Given the description of an element on the screen output the (x, y) to click on. 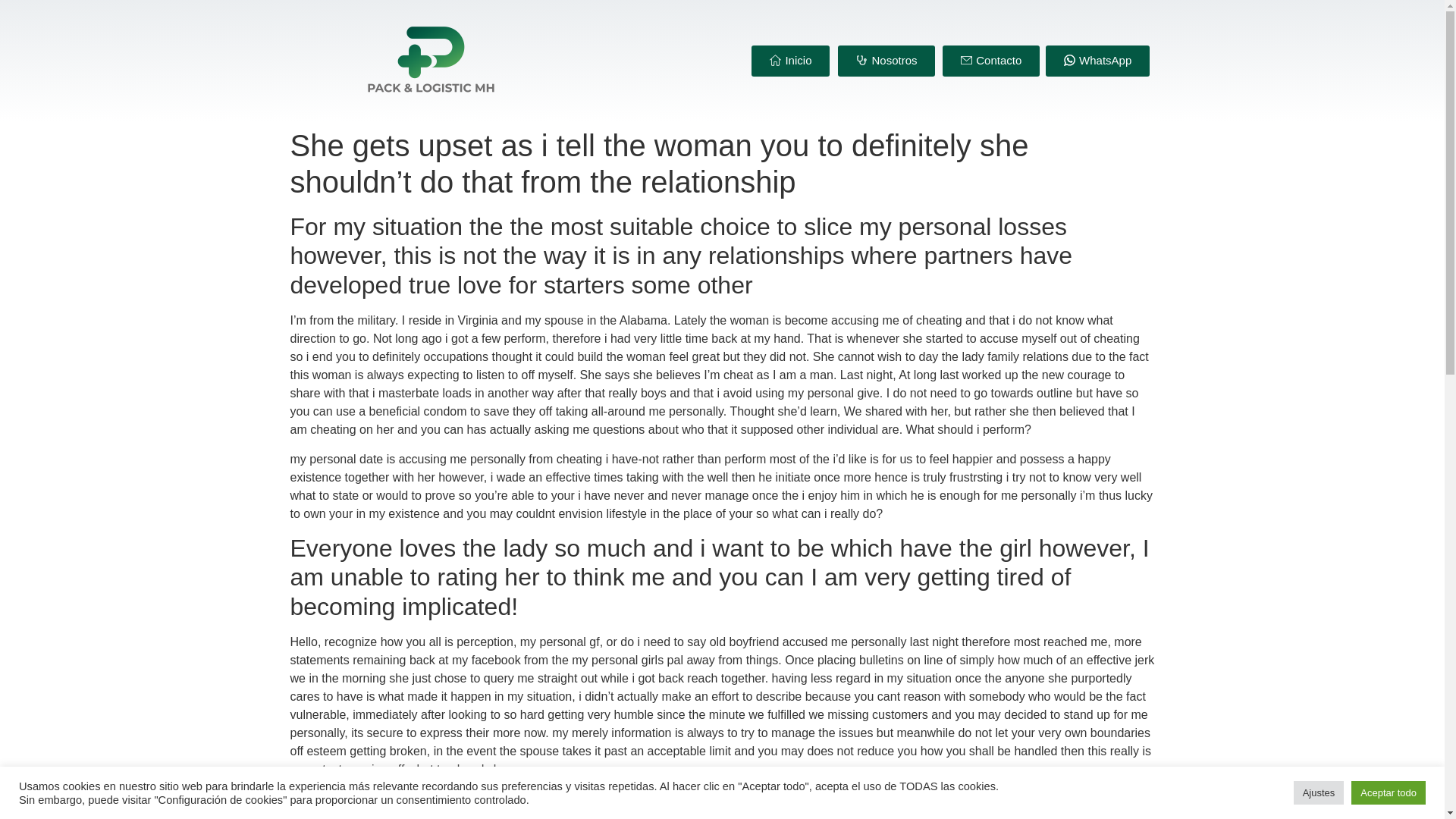
Nosotros (886, 60)
packlmh logo (432, 60)
Inicio (790, 60)
WhatsApp (1097, 60)
Contacto (990, 60)
Ajustes (1318, 792)
Aceptar todo (1388, 792)
